Given the description of an element on the screen output the (x, y) to click on. 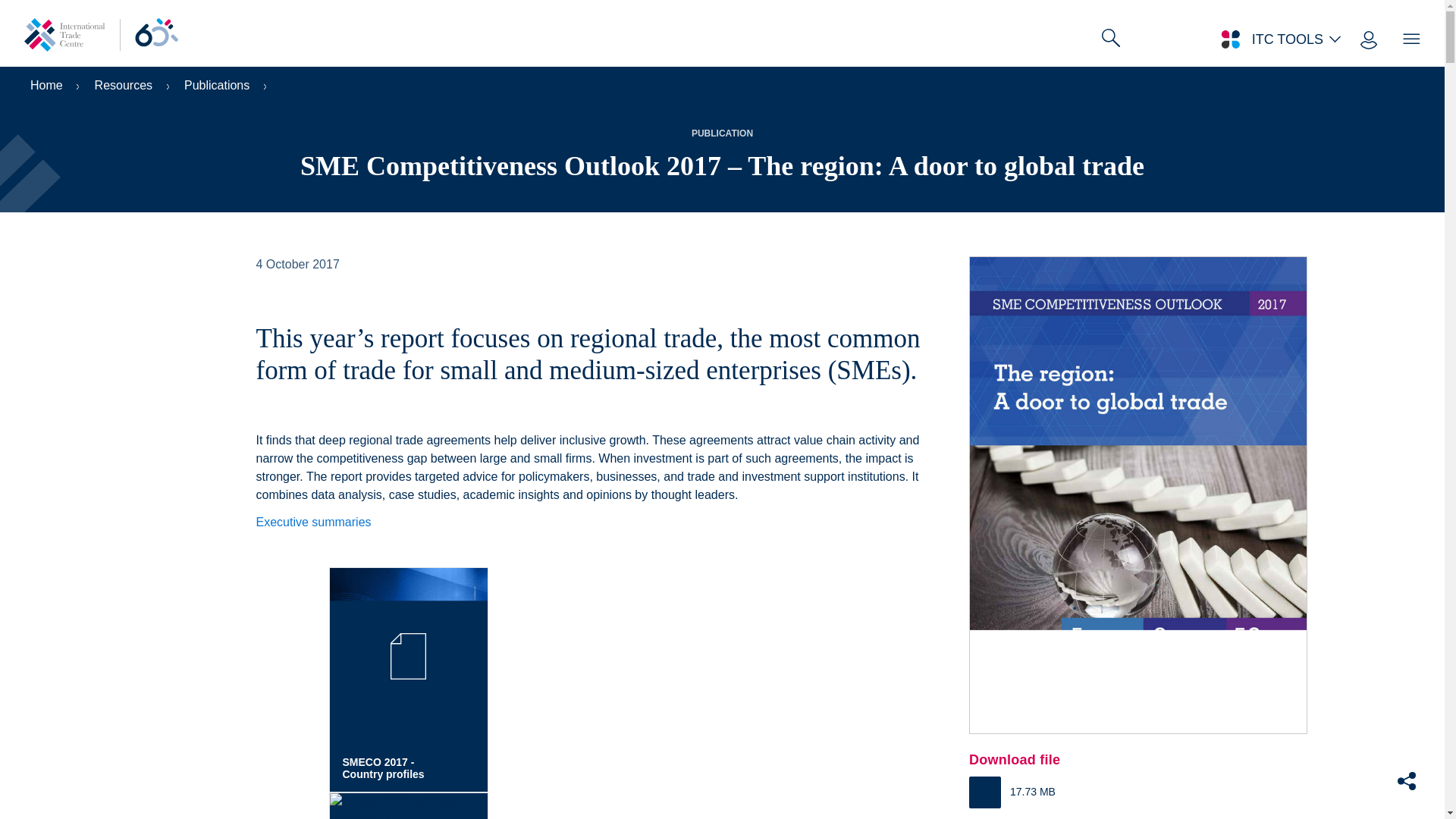
Privacy settings (49, 806)
ACCEPT (1168, 813)
Login (1379, 27)
REJECT (1057, 813)
